Given the description of an element on the screen output the (x, y) to click on. 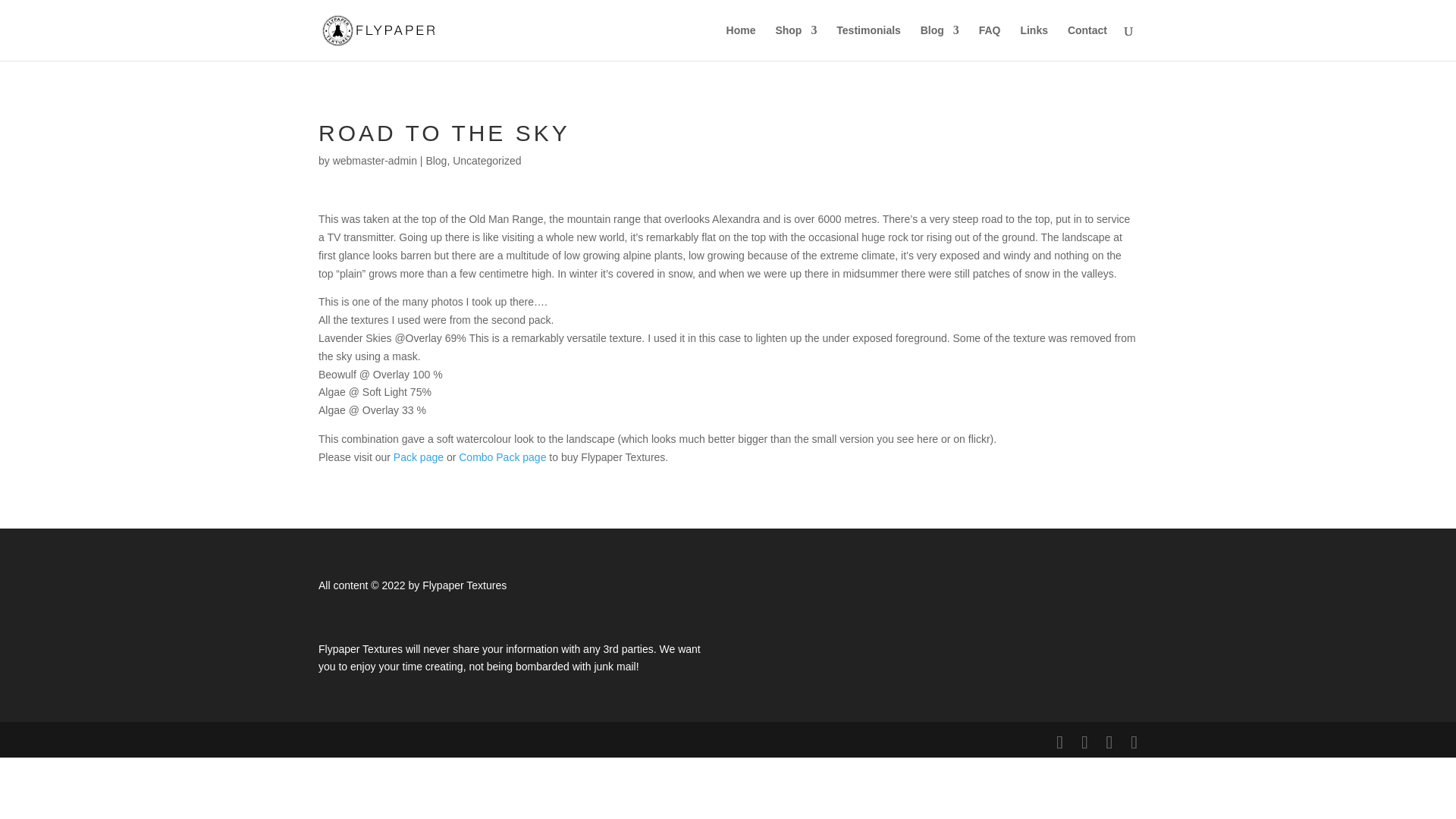
Posts by webmaster-admin (374, 160)
Contact (1086, 42)
Blog (939, 42)
Testimonials (868, 42)
Shop (795, 42)
